Given the description of an element on the screen output the (x, y) to click on. 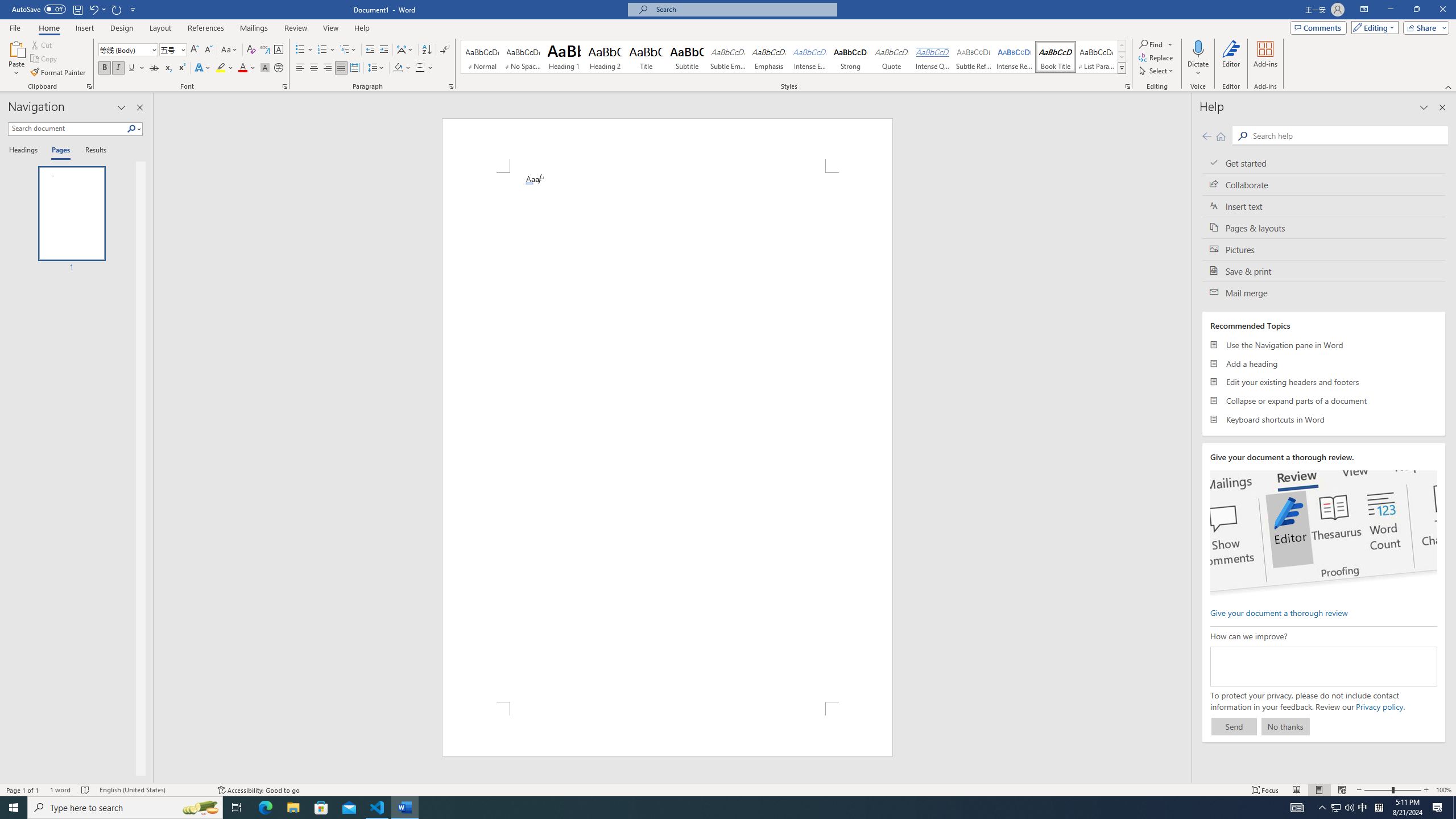
Undo Apply Quick Style (96, 9)
Language English (United States) (152, 790)
Give your document a thorough review (1278, 611)
Heading 1 (564, 56)
Intense Reference (1014, 56)
